Given the description of an element on the screen output the (x, y) to click on. 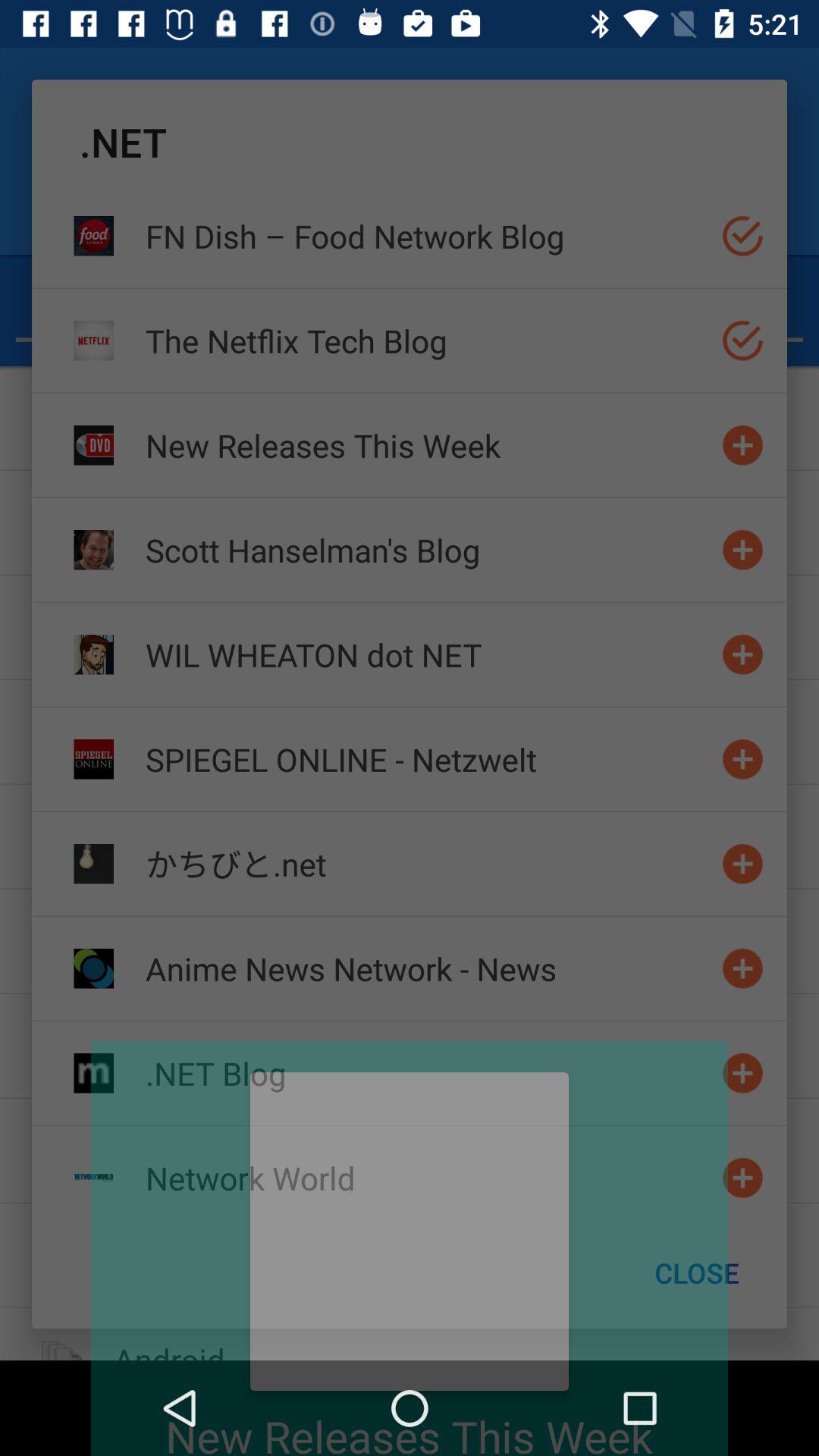
select the option (742, 235)
